Given the description of an element on the screen output the (x, y) to click on. 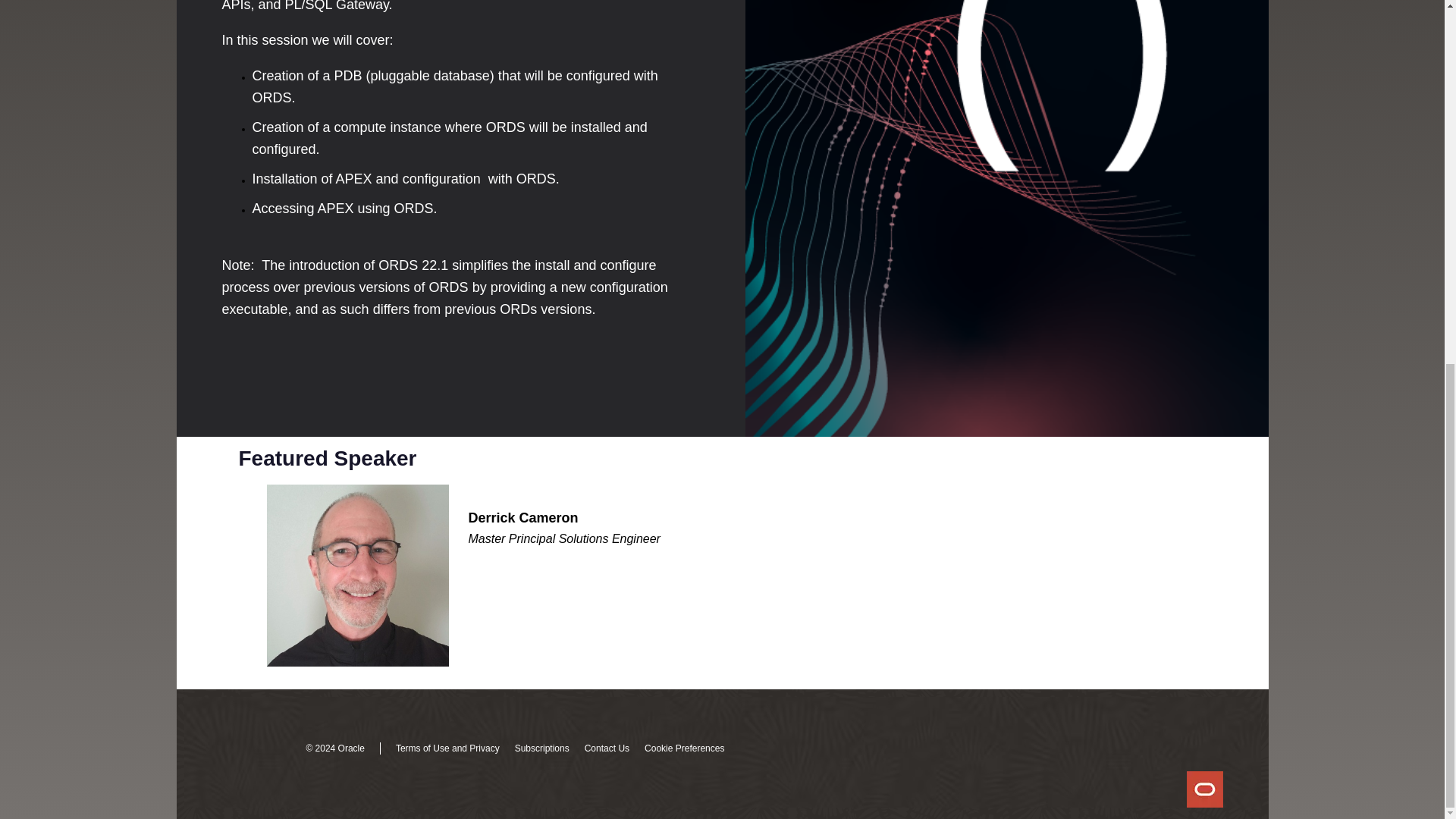
Cookie Preferences (684, 747)
Terms of Use and Privacy (447, 747)
Contact Us (606, 747)
Subscriptions (542, 747)
